Given the description of an element on the screen output the (x, y) to click on. 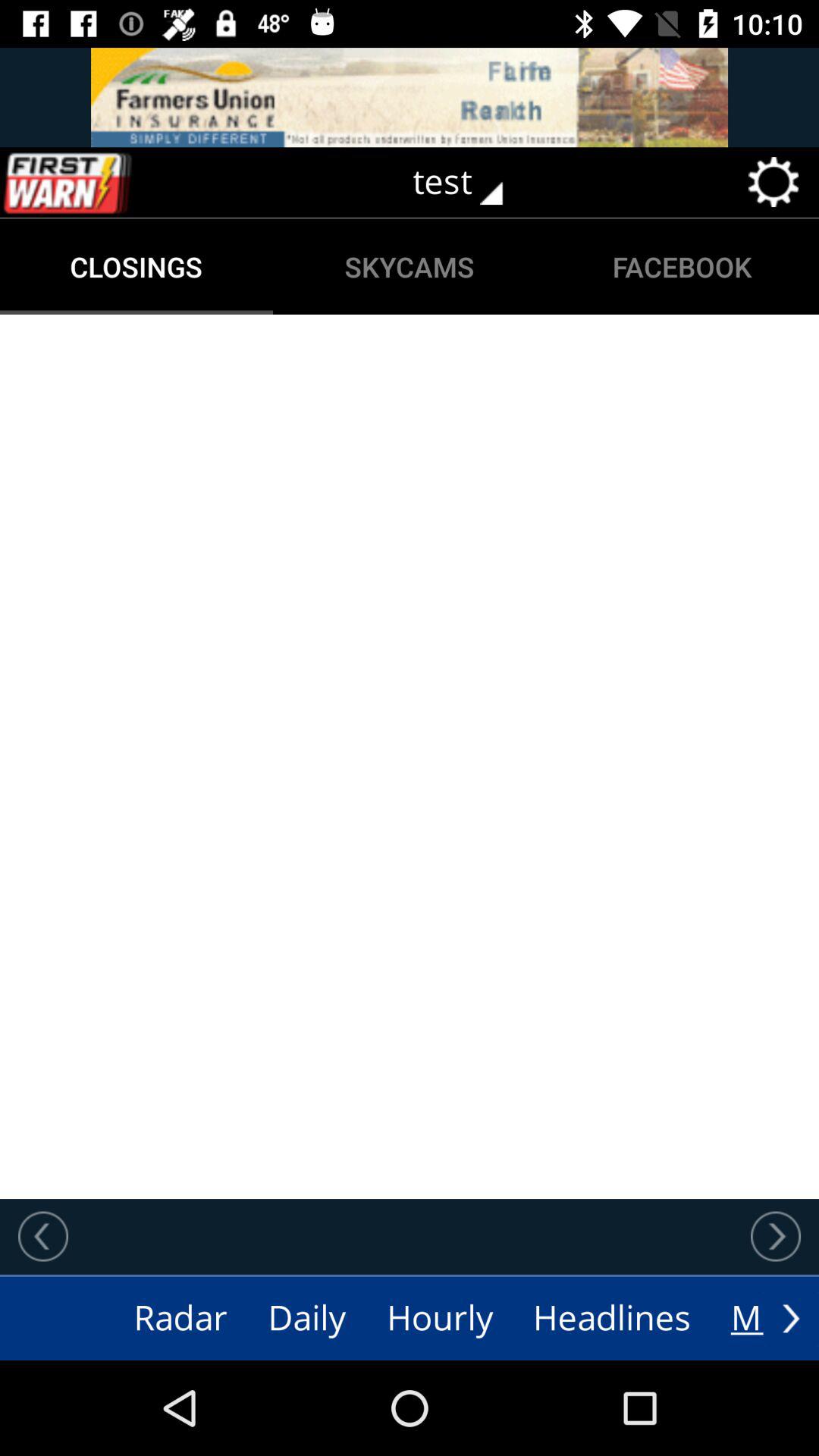
a funcionalidade desta funo possibilita avanar (775, 1236)
